Given the description of an element on the screen output the (x, y) to click on. 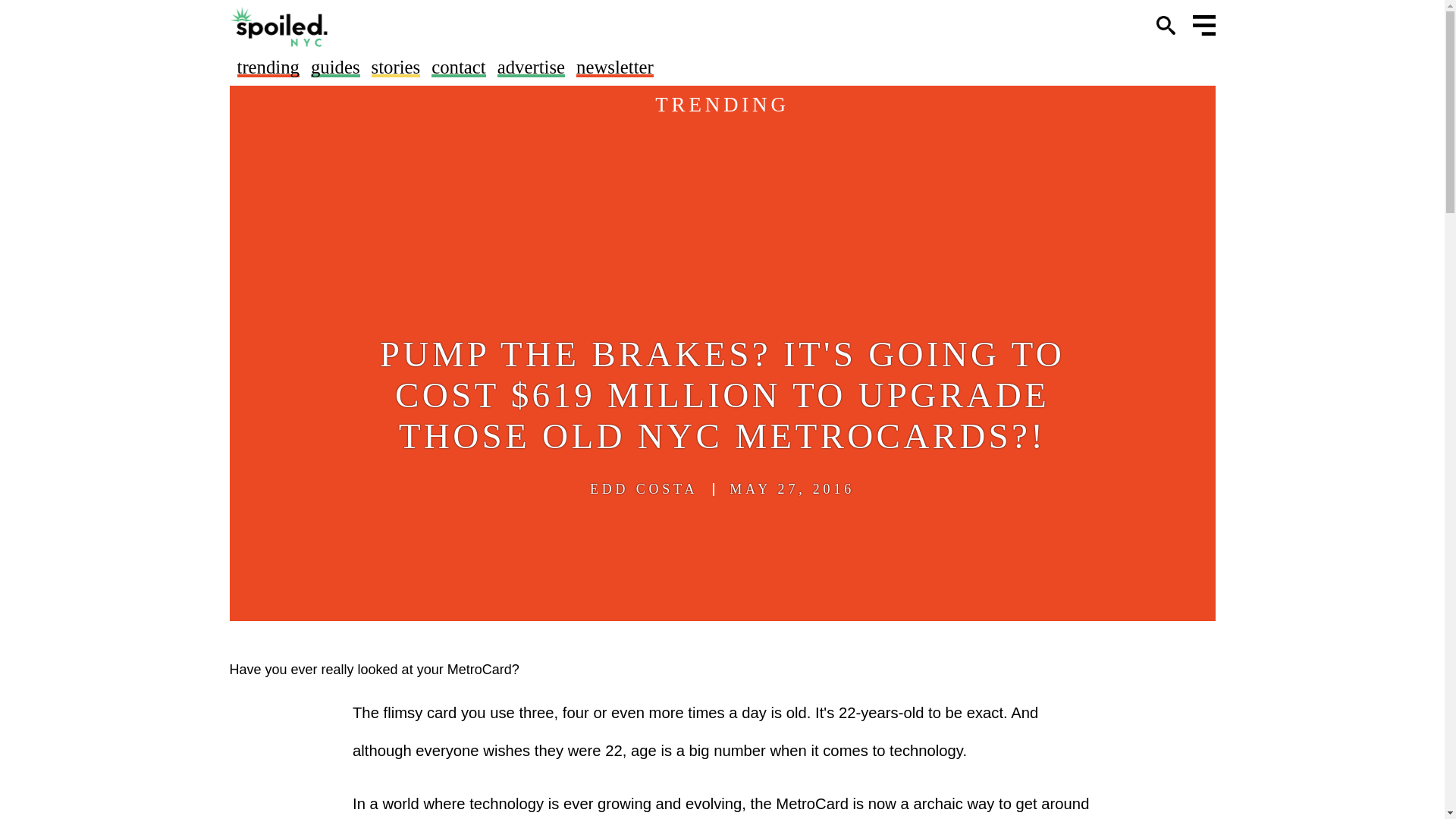
EDD COSTA (643, 489)
guides (335, 66)
contact (457, 66)
newsletter (614, 66)
TRENDING (722, 104)
advertise (530, 66)
trending (266, 66)
stories (395, 66)
